Given the description of an element on the screen output the (x, y) to click on. 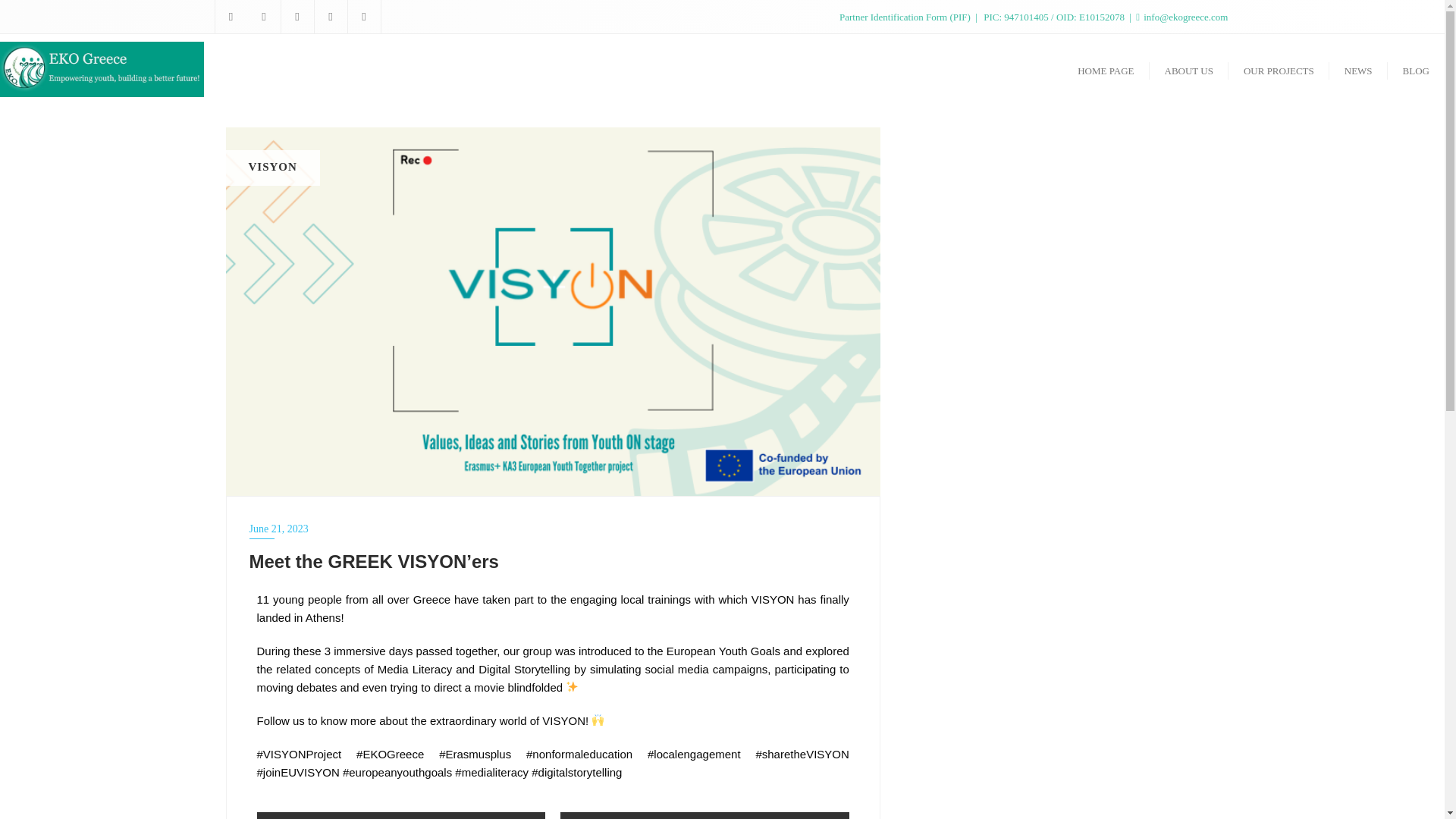
June 21, 2023 (552, 528)
ABOUT US (1189, 69)
NEWS (1358, 69)
OUR PROJECTS (1278, 69)
HOME PAGE (1105, 69)
